Given the description of an element on the screen output the (x, y) to click on. 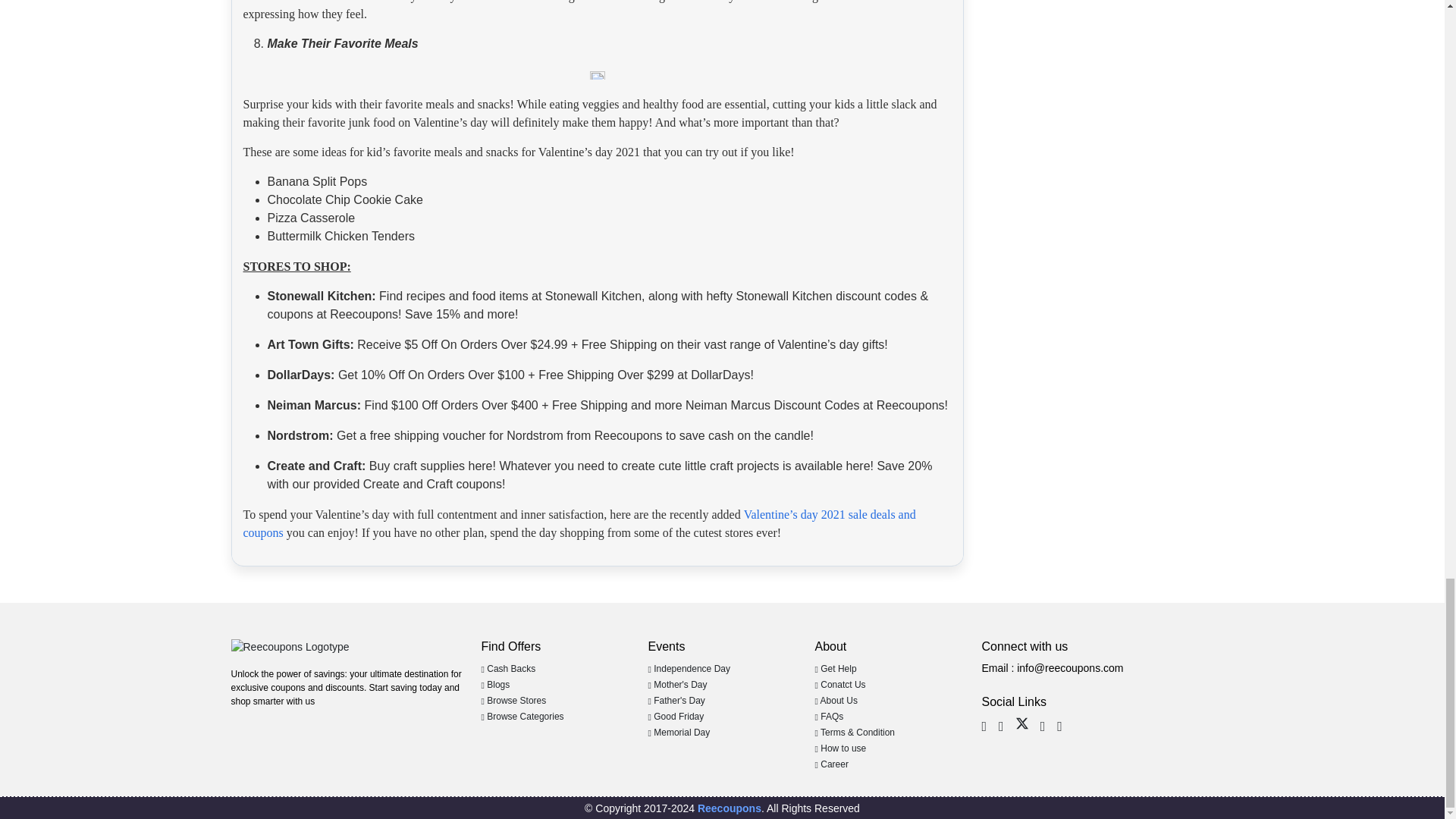
Good Friday (675, 716)
Mother's Day (676, 684)
Independence Day (688, 668)
Memorial Day (678, 732)
Father's Day (675, 700)
